Given the description of an element on the screen output the (x, y) to click on. 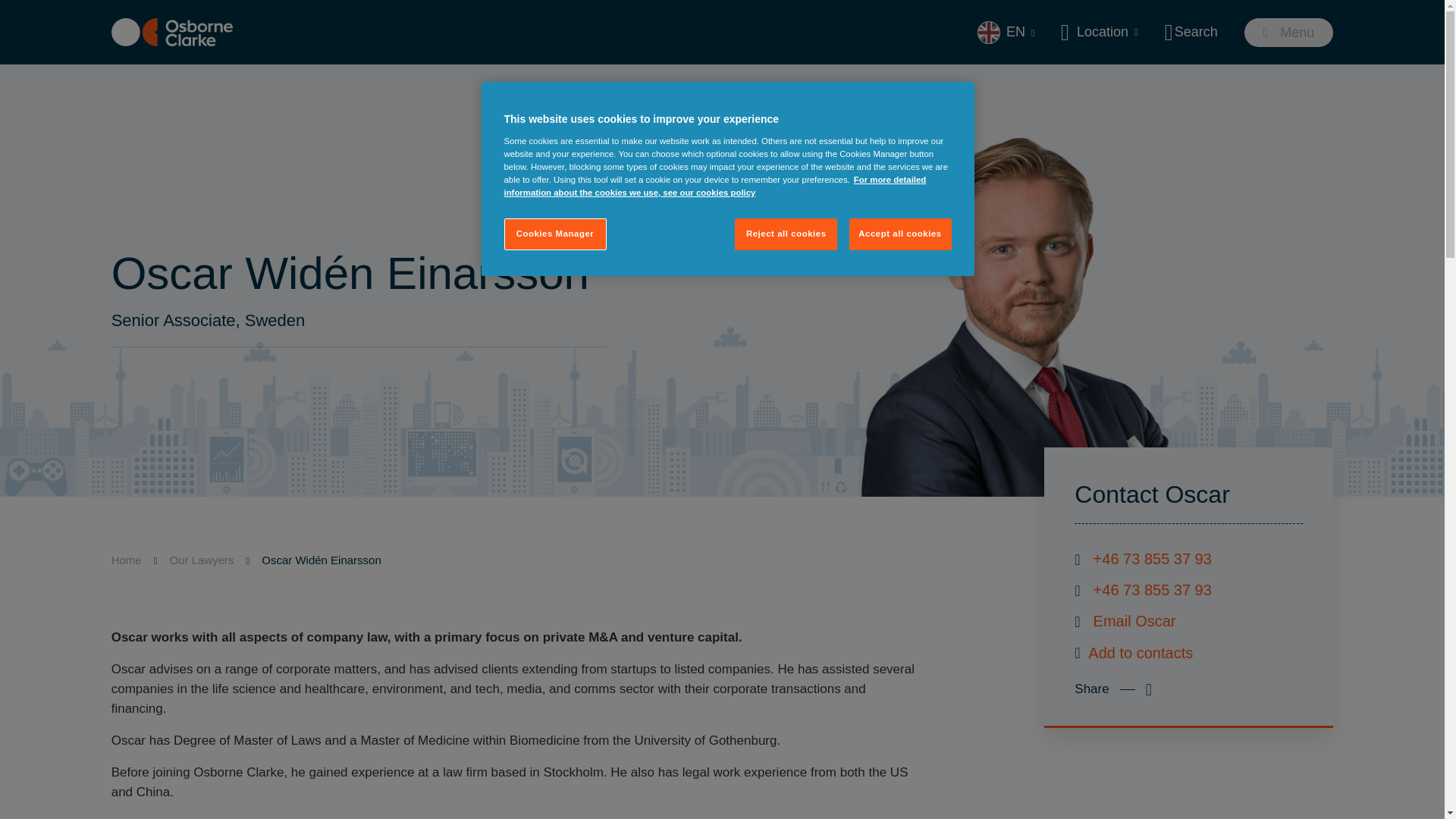
Menu (1288, 32)
Osborne Clarke (172, 32)
